Given the description of an element on the screen output the (x, y) to click on. 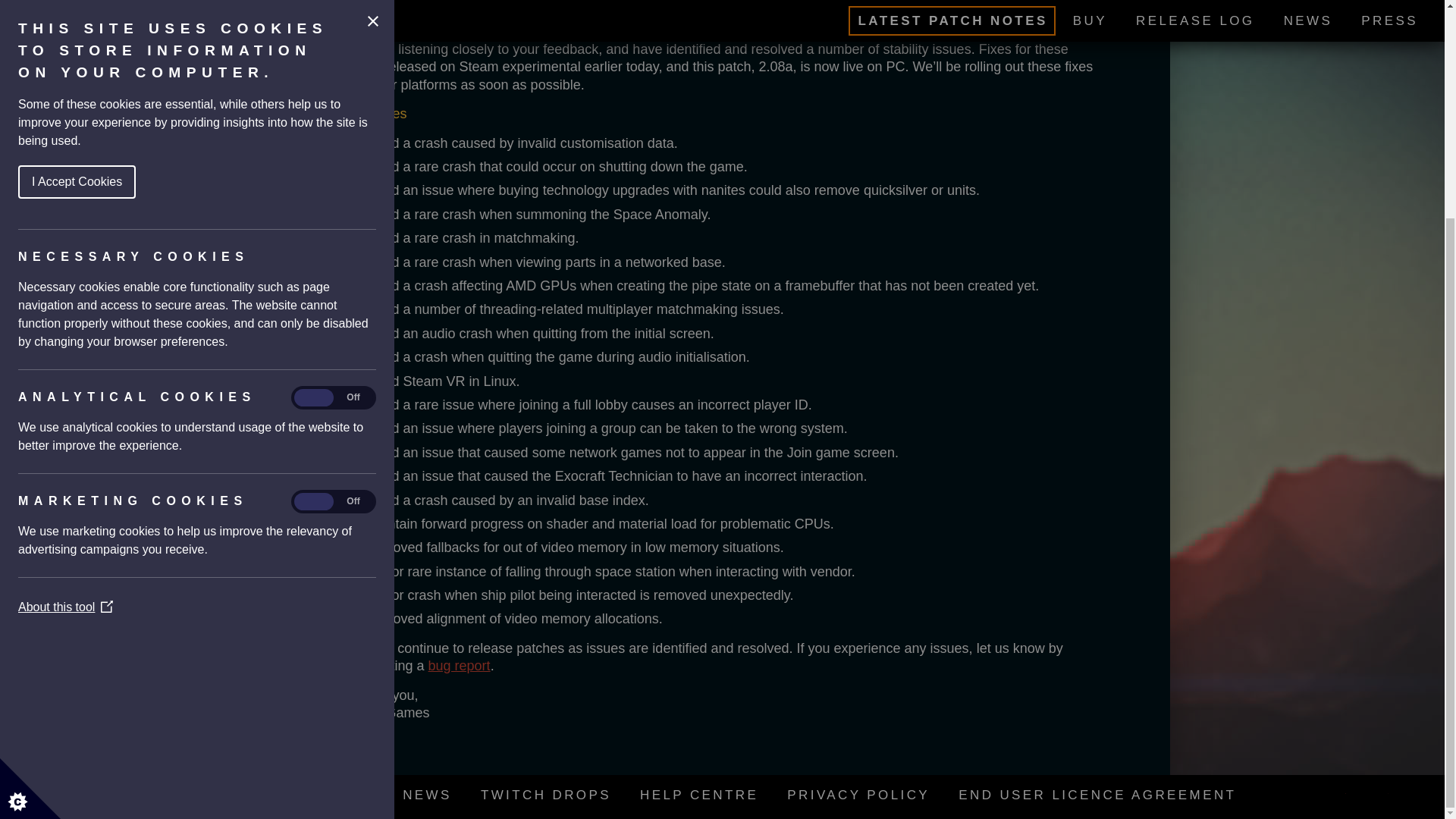
CONTACT (248, 794)
TWITTER (1376, 793)
END USER LICENCE AGREEMENT (1097, 794)
HELP CENTRE (699, 794)
NEWS (427, 794)
bug report (459, 665)
TWITCH DROPS (545, 794)
ABOUT (344, 794)
No Man's Sky on Twitter (1333, 793)
PRIVACY POLICY (858, 794)
